Given the description of an element on the screen output the (x, y) to click on. 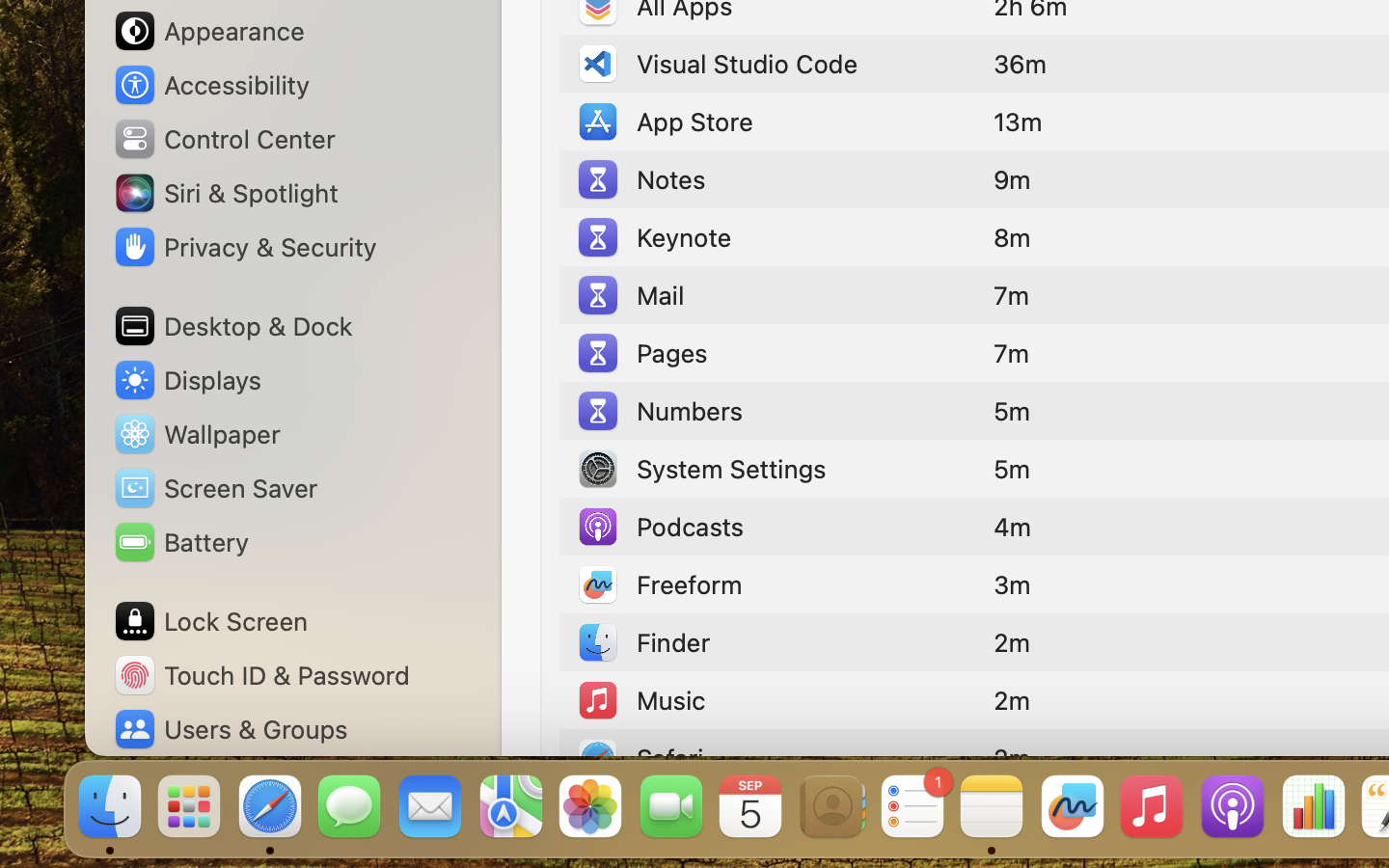
Safari Element type: AXStaticText (639, 757)
Control Center Element type: AXStaticText (223, 138)
3m Element type: AXStaticText (1011, 584)
Visual Studio Code Element type: AXStaticText (716, 63)
4m Element type: AXStaticText (1012, 526)
